Given the description of an element on the screen output the (x, y) to click on. 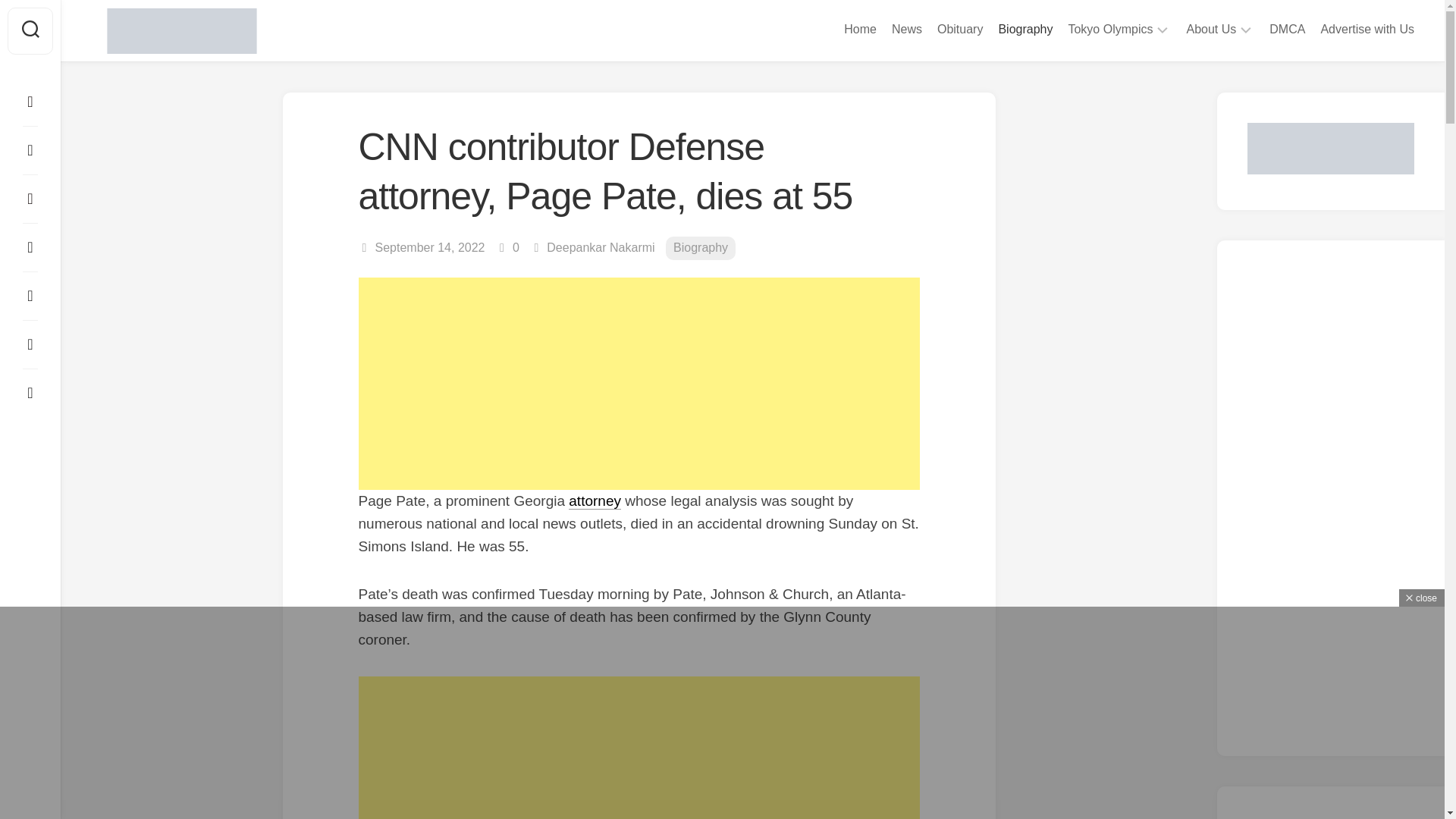
DMCA (1286, 29)
Obituary (959, 29)
Biography (1024, 29)
Posts by Deepankar Nakarmi (600, 246)
Advertise with Us (1366, 29)
Advertisement (638, 746)
News (906, 29)
Home (860, 29)
Tokyo Olympics (1110, 29)
Advertisement (638, 383)
